Given the description of an element on the screen output the (x, y) to click on. 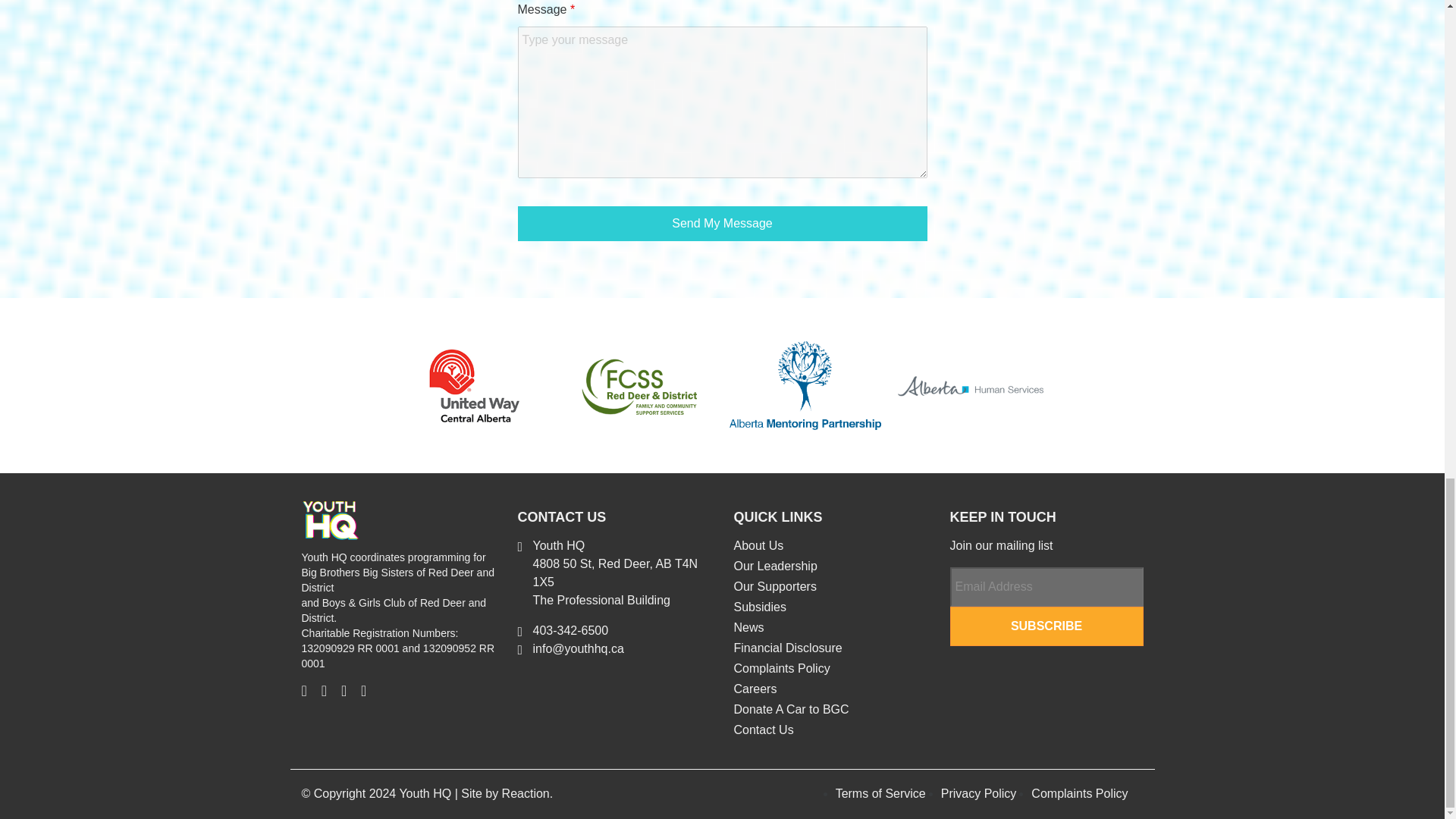
Send My Message (721, 223)
Subscribe (1045, 626)
